Given the description of an element on the screen output the (x, y) to click on. 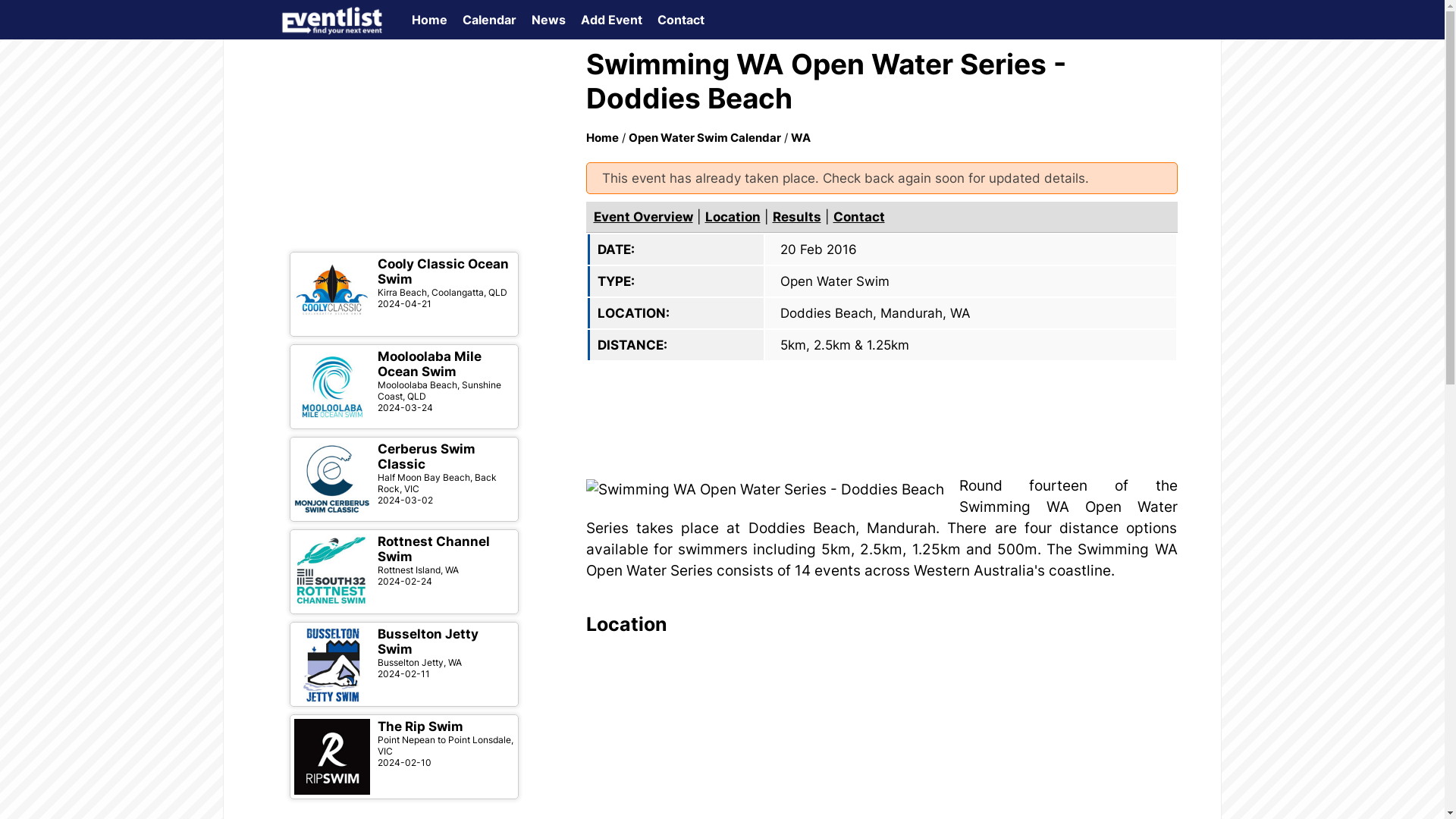
News Element type: text (547, 19)
Home Element type: text (601, 137)
Rottnest Channel Swim
Rottnest Island, WA
2024-02-24 Element type: text (403, 571)
Results Element type: text (795, 216)
Contact Element type: text (858, 216)
Add Event Element type: text (611, 19)
Busselton Jetty Swim
Busselton Jetty, WA
2024-02-11 Element type: text (403, 664)
Advertisement Element type: hover (403, 149)
Calendar Element type: text (489, 19)
Event Overview Element type: text (642, 216)
Contact Element type: text (679, 19)
Open Water Swim Calendar Element type: text (703, 137)
WA Element type: text (799, 137)
The Rip Swim
Point Nepean to Point Lonsdale, VIC
2024-02-10 Element type: text (403, 756)
Location Element type: text (732, 216)
Home Element type: text (428, 19)
